Given the description of an element on the screen output the (x, y) to click on. 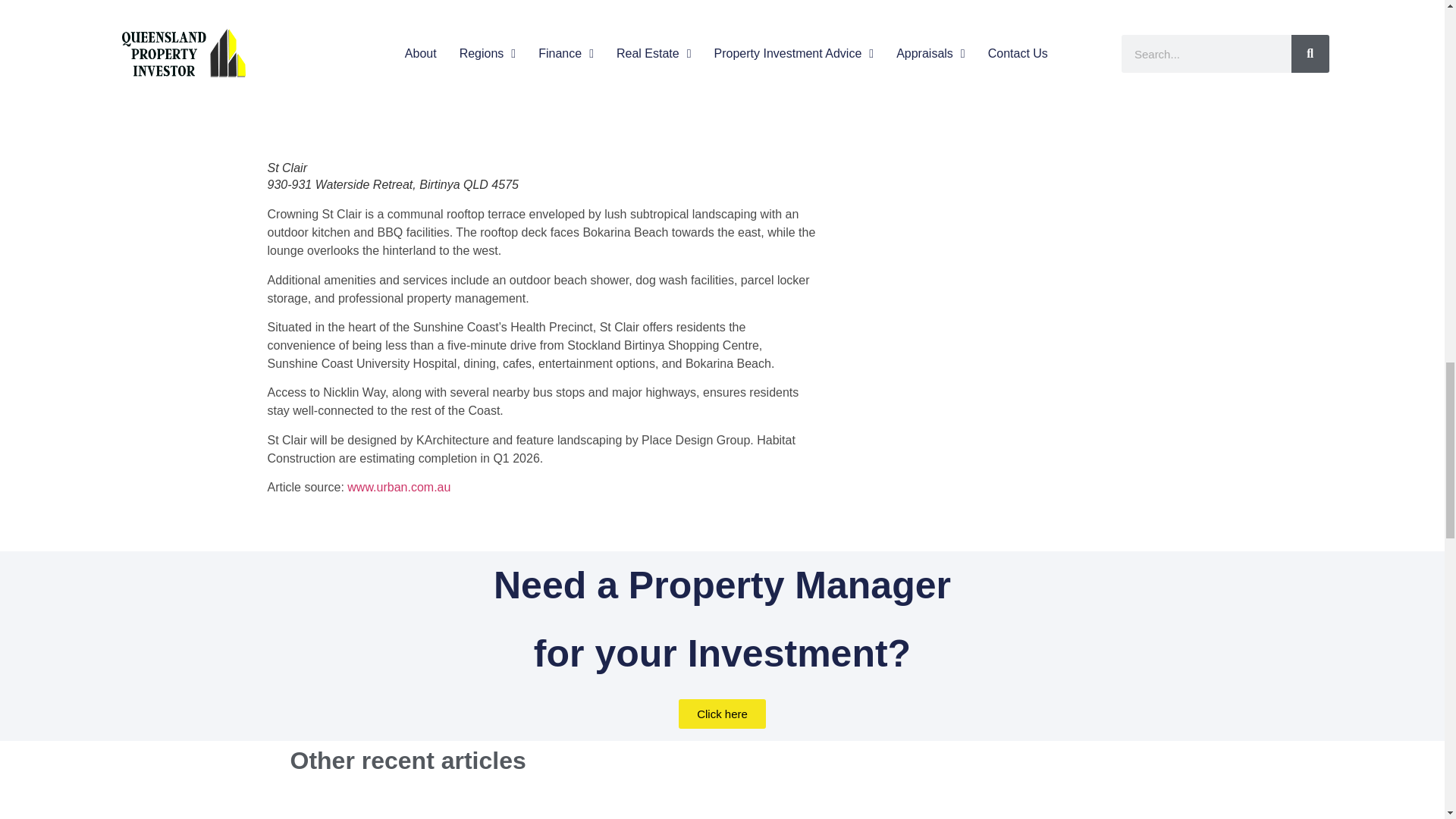
Habitat launch Birtinya apartment development St Clair 2 (540, 76)
